Given the description of an element on the screen output the (x, y) to click on. 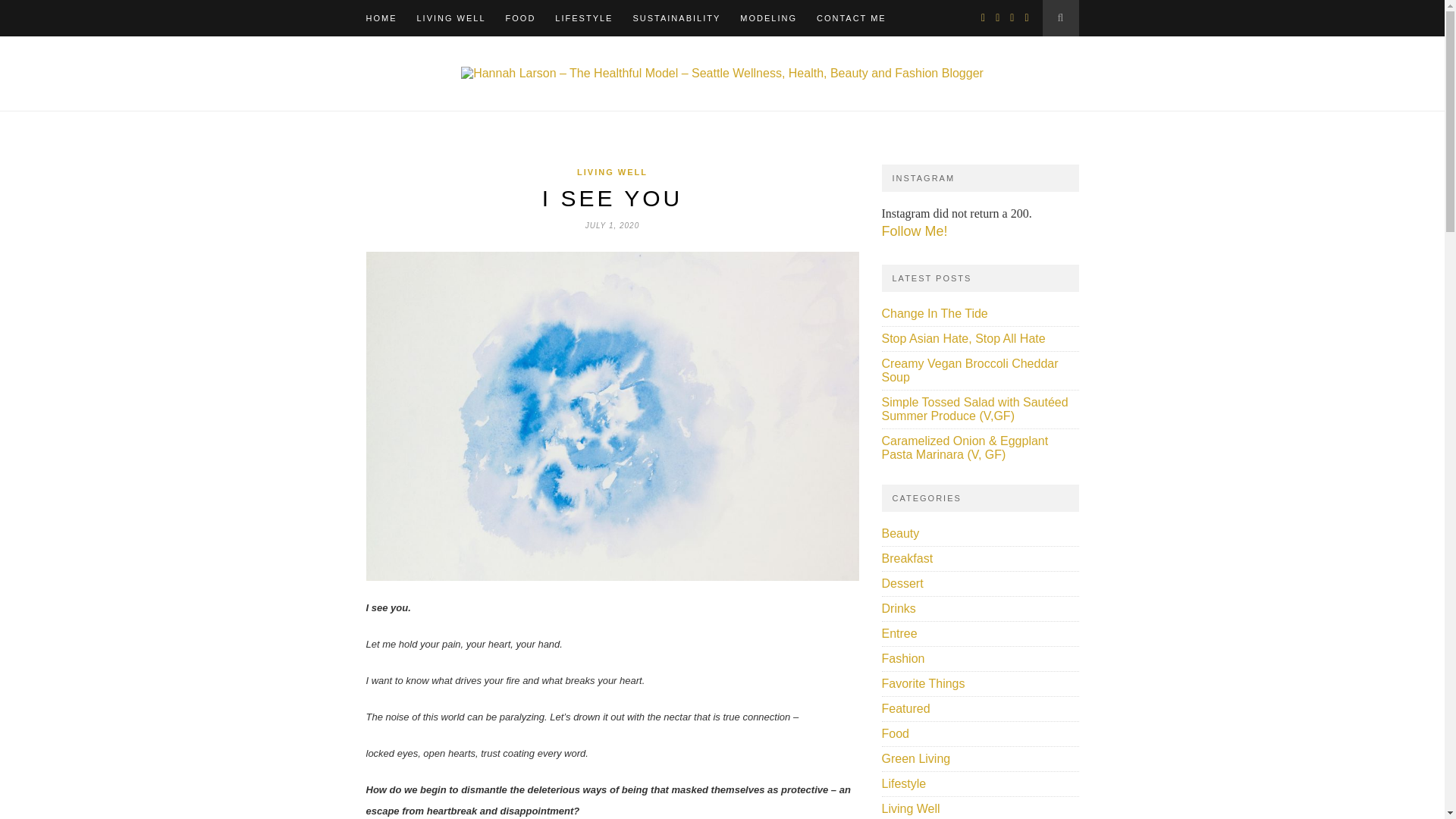
LIVING WELL (611, 171)
CONTACT ME (851, 18)
SUSTAINABILITY (675, 18)
View all posts in Living Well (611, 171)
LIFESTYLE (583, 18)
MODELING (767, 18)
LIVING WELL (451, 18)
